Given the description of an element on the screen output the (x, y) to click on. 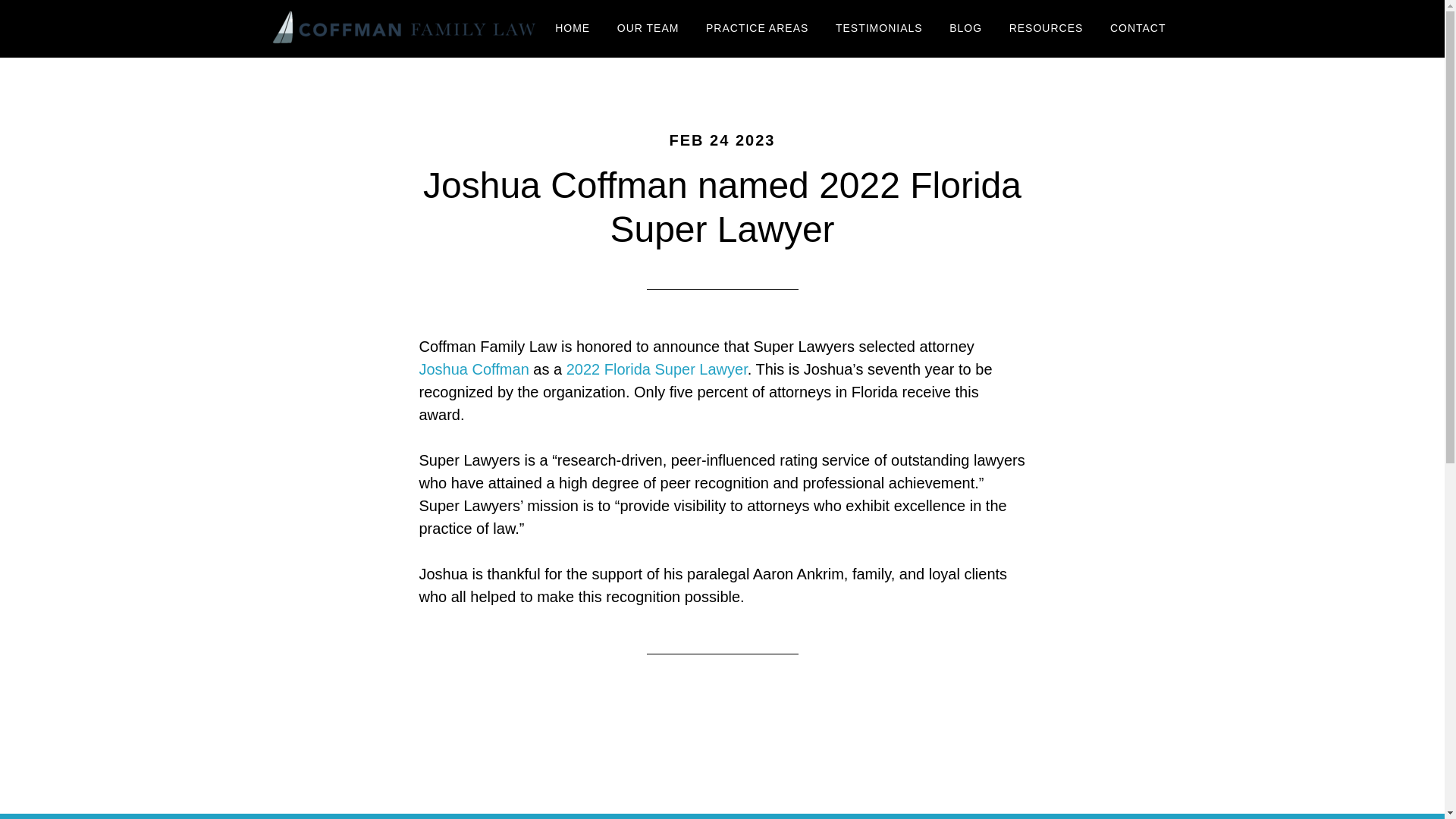
Joshua Coffman named 2022 Florida Super Lawyer (722, 207)
COFFMAN FAMILY LAW (403, 28)
Joshua Coffman (473, 369)
2022 Florida Super Lawyer (657, 369)
TESTIMONIALS (879, 28)
OUR TEAM (647, 28)
CONTACT (1138, 28)
PRACTICE AREAS (756, 28)
RESOURCES (1045, 28)
BLOG (964, 28)
HOME (572, 28)
